Given the description of an element on the screen output the (x, y) to click on. 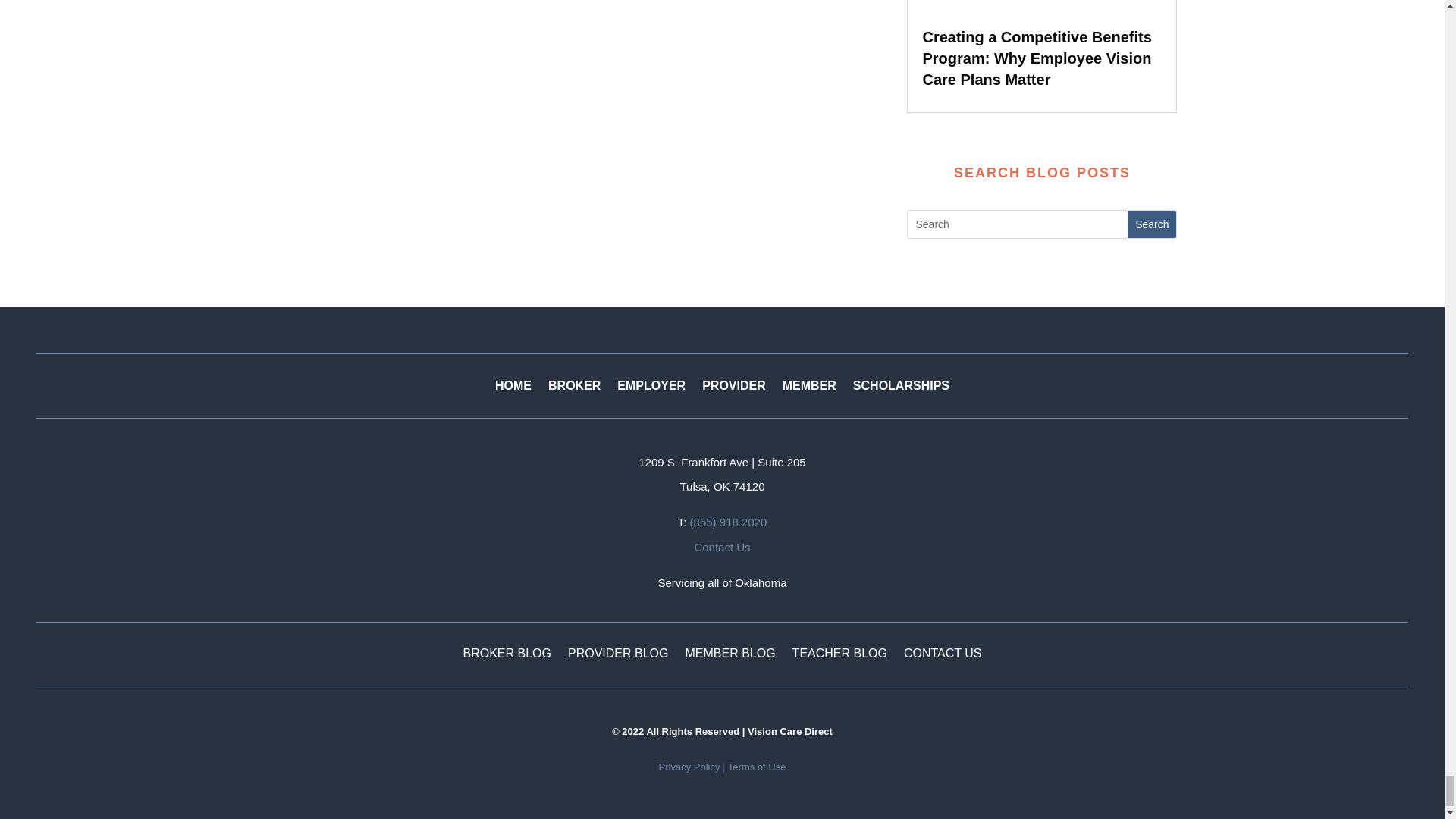
Search (1151, 224)
Search (1151, 224)
